Given the description of an element on the screen output the (x, y) to click on. 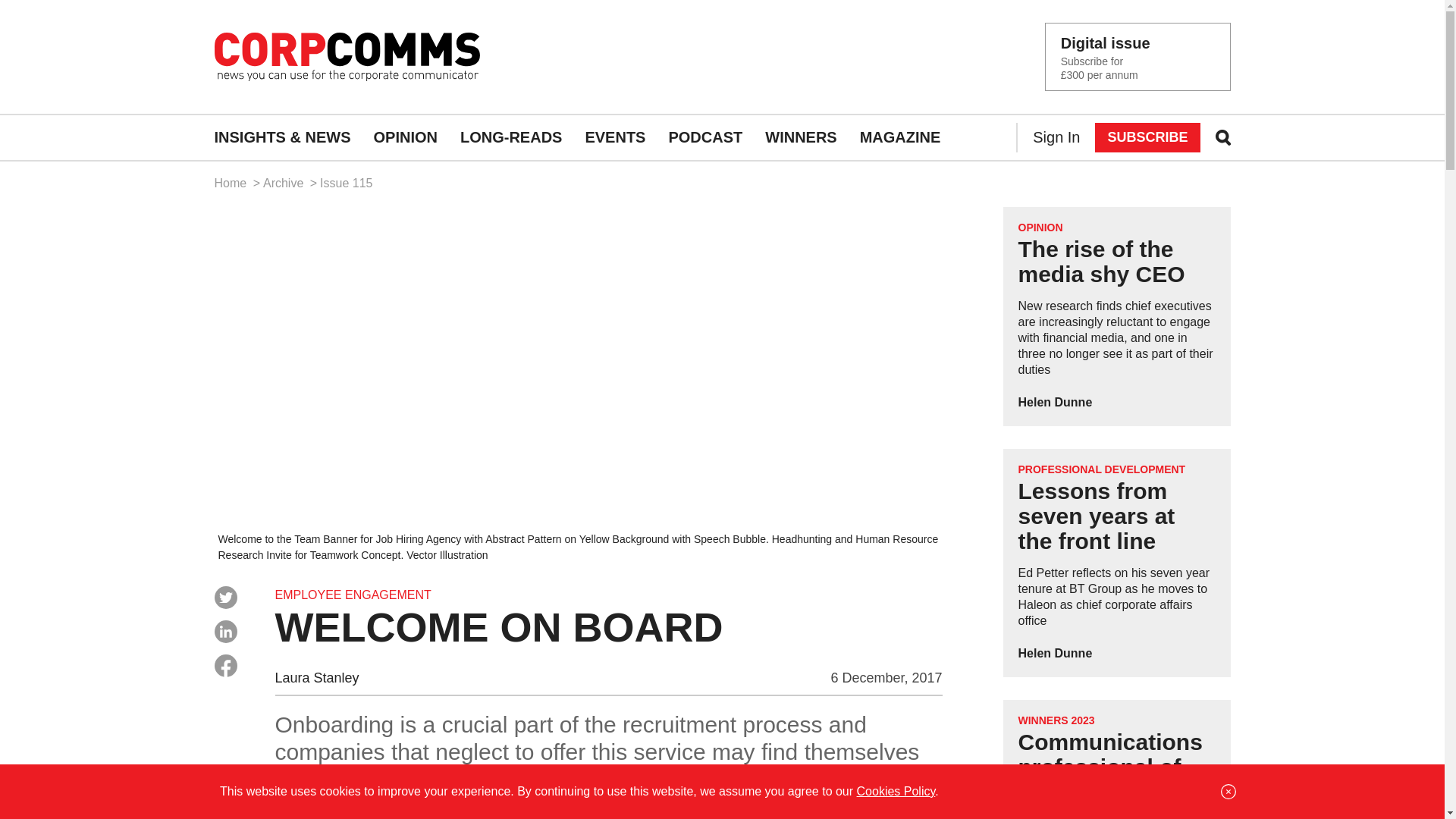
PROFESSIONAL DEVELOPMENT (1101, 468)
Search (34, 15)
Home (231, 182)
MAGAZINE (900, 137)
OPINION (1039, 227)
Archive (285, 182)
Sign In (1056, 137)
PODCAST (705, 137)
EMPLOYEE ENGAGEMENT (352, 594)
Helen Dunne (1054, 653)
Communications professional of the year (1109, 766)
Helen Dunne (1054, 401)
EVENTS (615, 137)
Issue 115 (346, 182)
The rise of the media shy CEO (1101, 261)
